Given the description of an element on the screen output the (x, y) to click on. 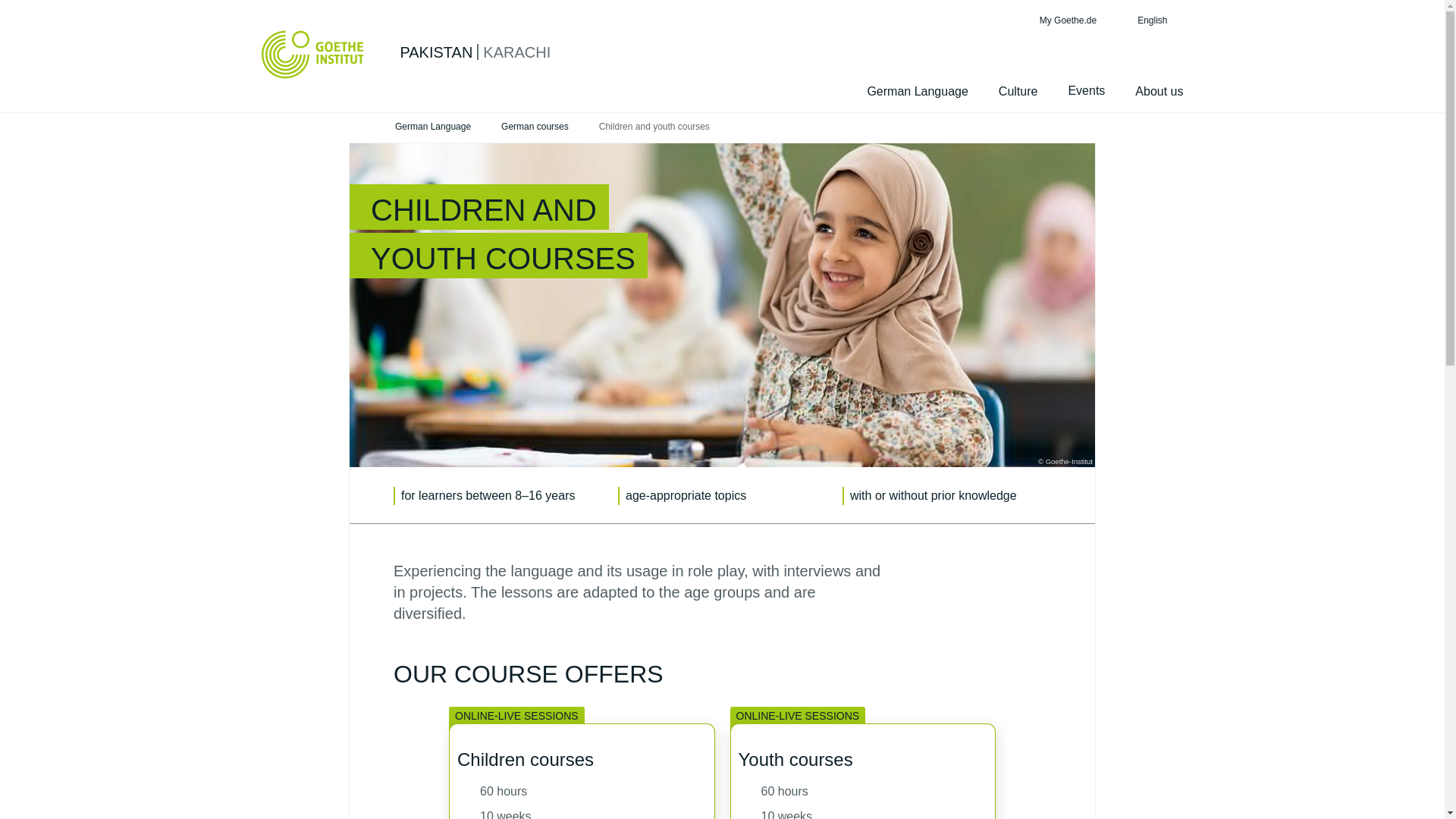
Culture (1018, 91)
My Goethe.de (1064, 20)
German Language (432, 127)
Claim Goethe Institut (311, 54)
German courses (534, 127)
German courses (534, 127)
About us (1158, 91)
Home (357, 127)
Children and youth courses  (654, 127)
